Given the description of an element on the screen output the (x, y) to click on. 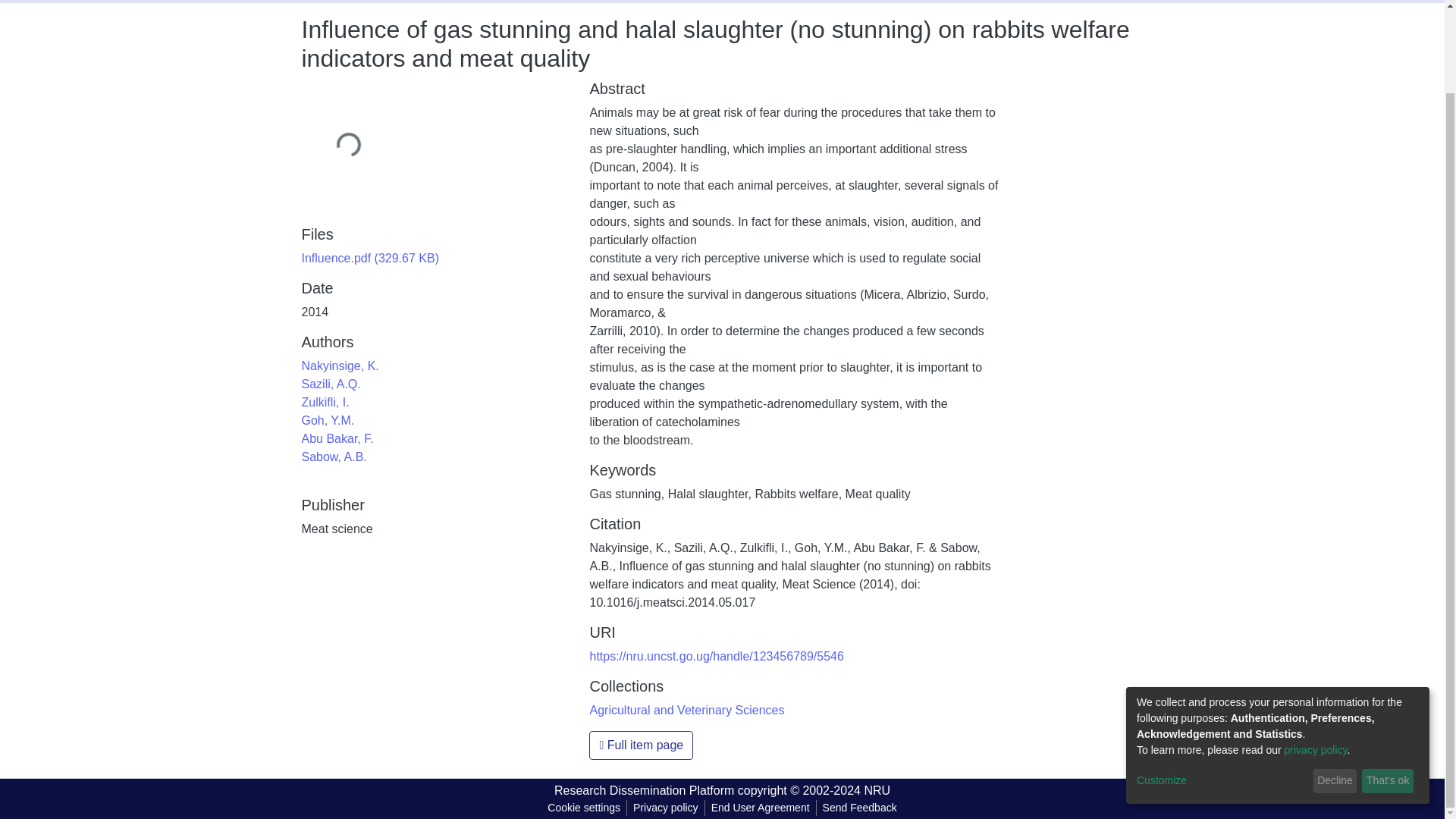
Zulkifli, I. (325, 401)
Sazili, A.Q. (331, 383)
Send Feedback (859, 807)
Nakyinsige, K. (339, 365)
NRU (876, 789)
Sabow, A.B. (333, 456)
Research Dissemination Platform (643, 789)
privacy policy (1316, 655)
Cookie settings (583, 807)
Agricultural and Veterinary Sciences (686, 709)
Privacy policy (665, 807)
Abu Bakar, F. (337, 438)
End User Agreement (759, 807)
Goh, Y.M. (328, 420)
Full item page (641, 745)
